Given the description of an element on the screen output the (x, y) to click on. 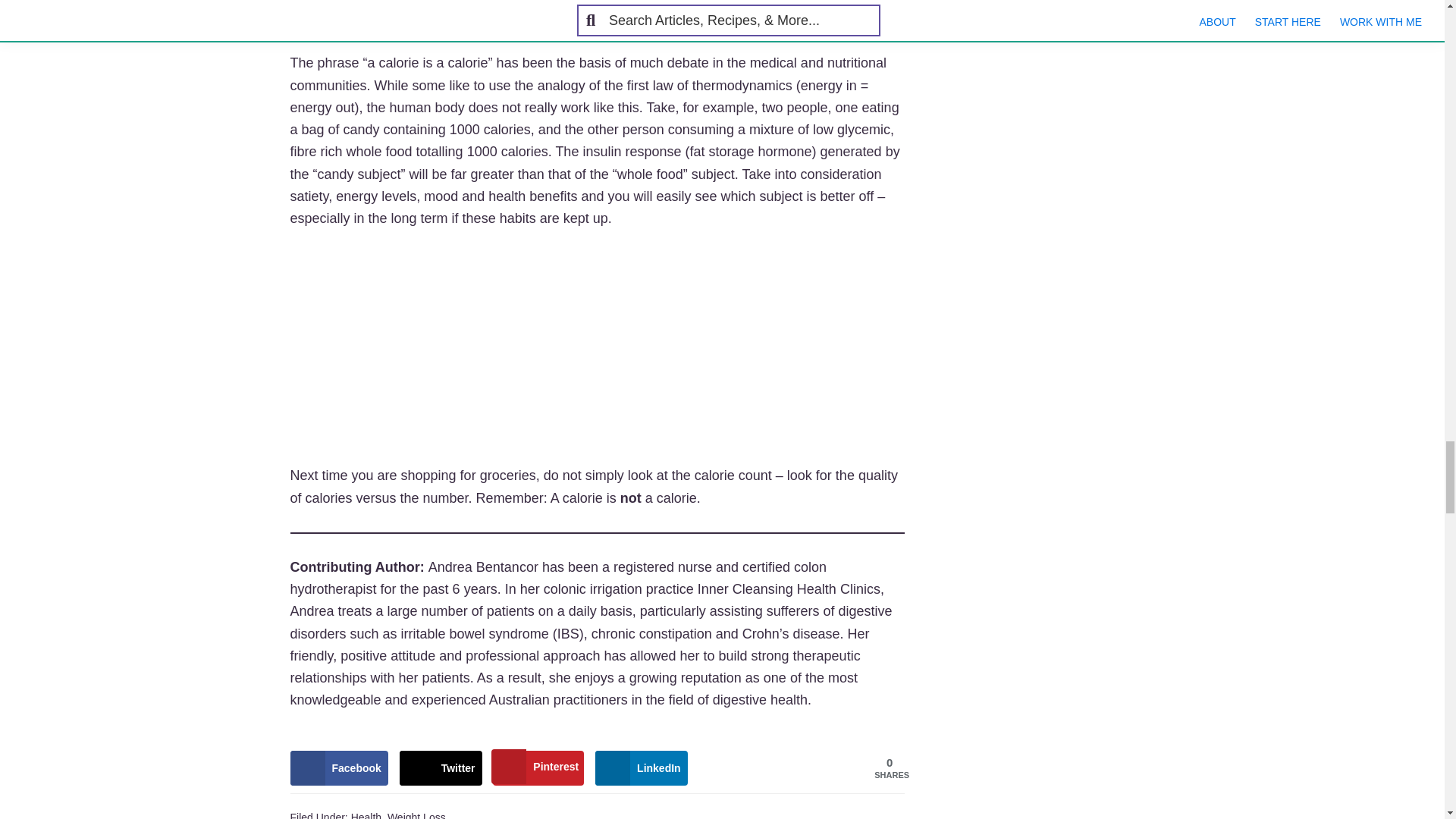
Share on X (439, 768)
Share on Facebook (338, 768)
Pinterest (538, 768)
Save to Pinterest (538, 768)
Weight Loss (416, 815)
Health (365, 815)
Twitter (439, 768)
Share on LinkedIn (641, 768)
Facebook (338, 768)
LinkedIn (641, 768)
